Given the description of an element on the screen output the (x, y) to click on. 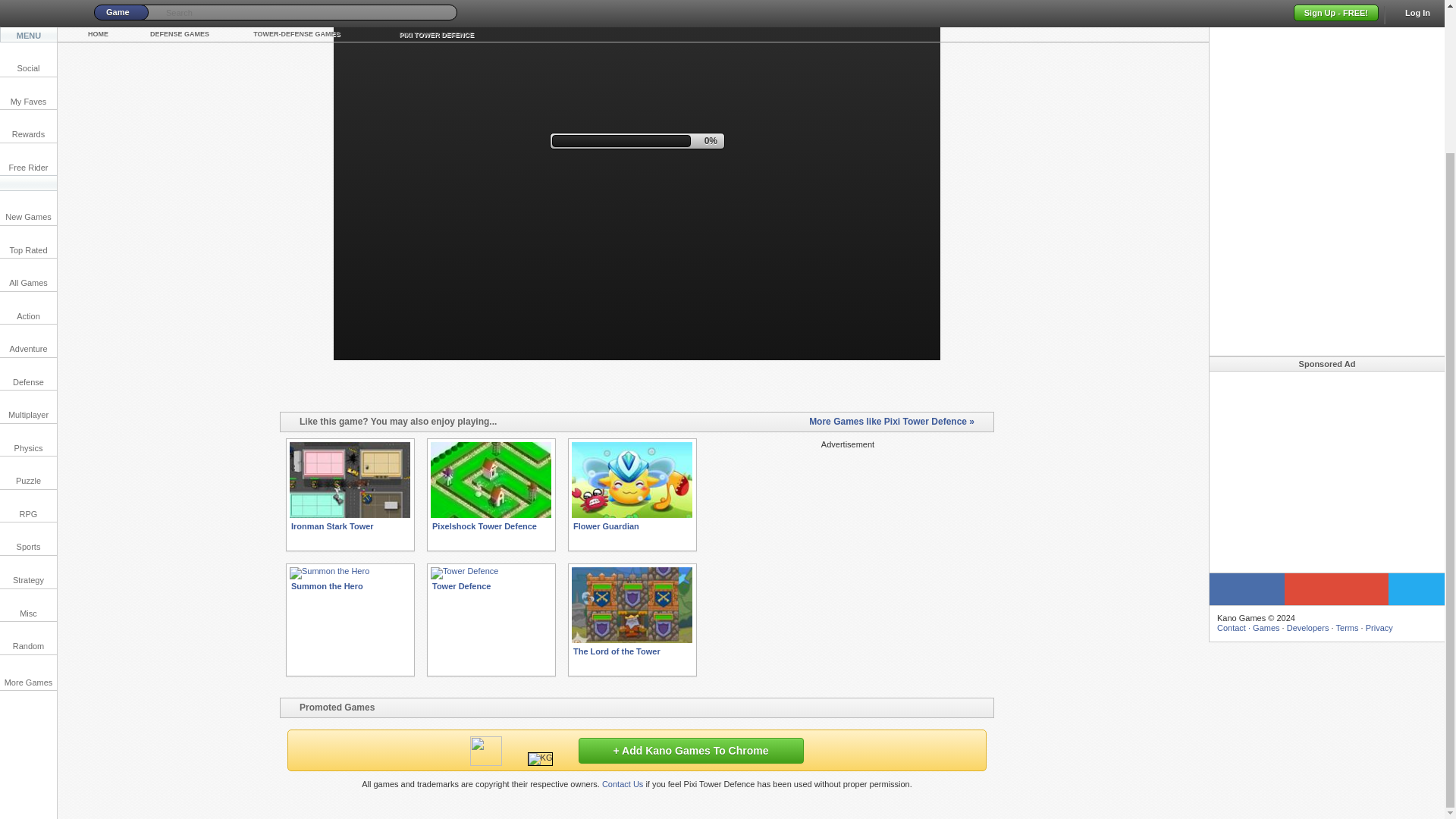
Random (28, 460)
Strategy (28, 394)
Puzzle (28, 295)
Action (28, 130)
Multiplayer (28, 228)
KG (540, 758)
Adventure (28, 163)
Misc (28, 427)
Sports (28, 360)
RPG (28, 328)
